Given the description of an element on the screen output the (x, y) to click on. 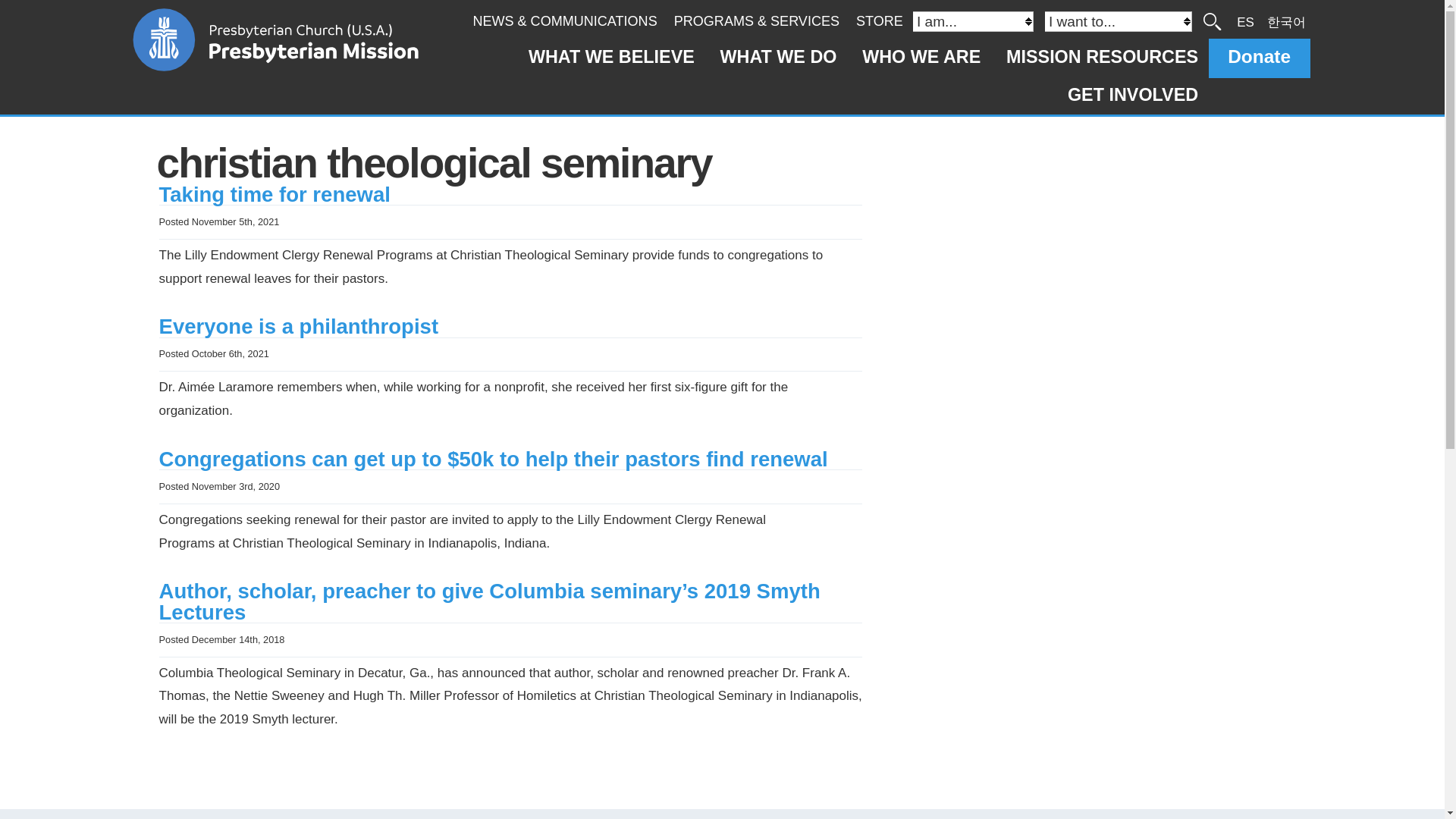
STORE (879, 20)
Taking time for renewal (274, 194)
ES (1245, 22)
Everyone is a philanthropist (298, 326)
